Given the description of an element on the screen output the (x, y) to click on. 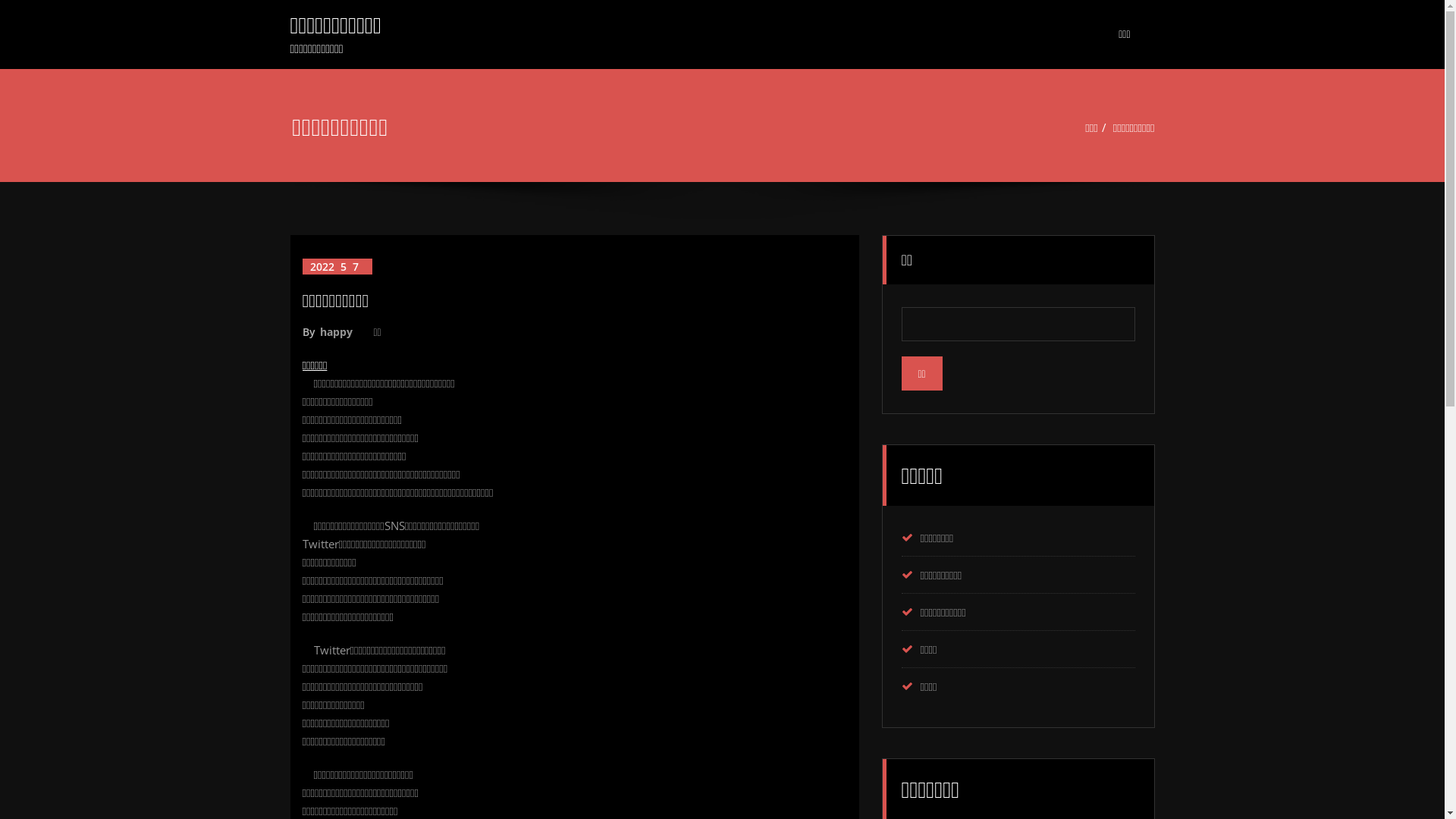
happy Element type: text (335, 331)
